Given the description of an element on the screen output the (x, y) to click on. 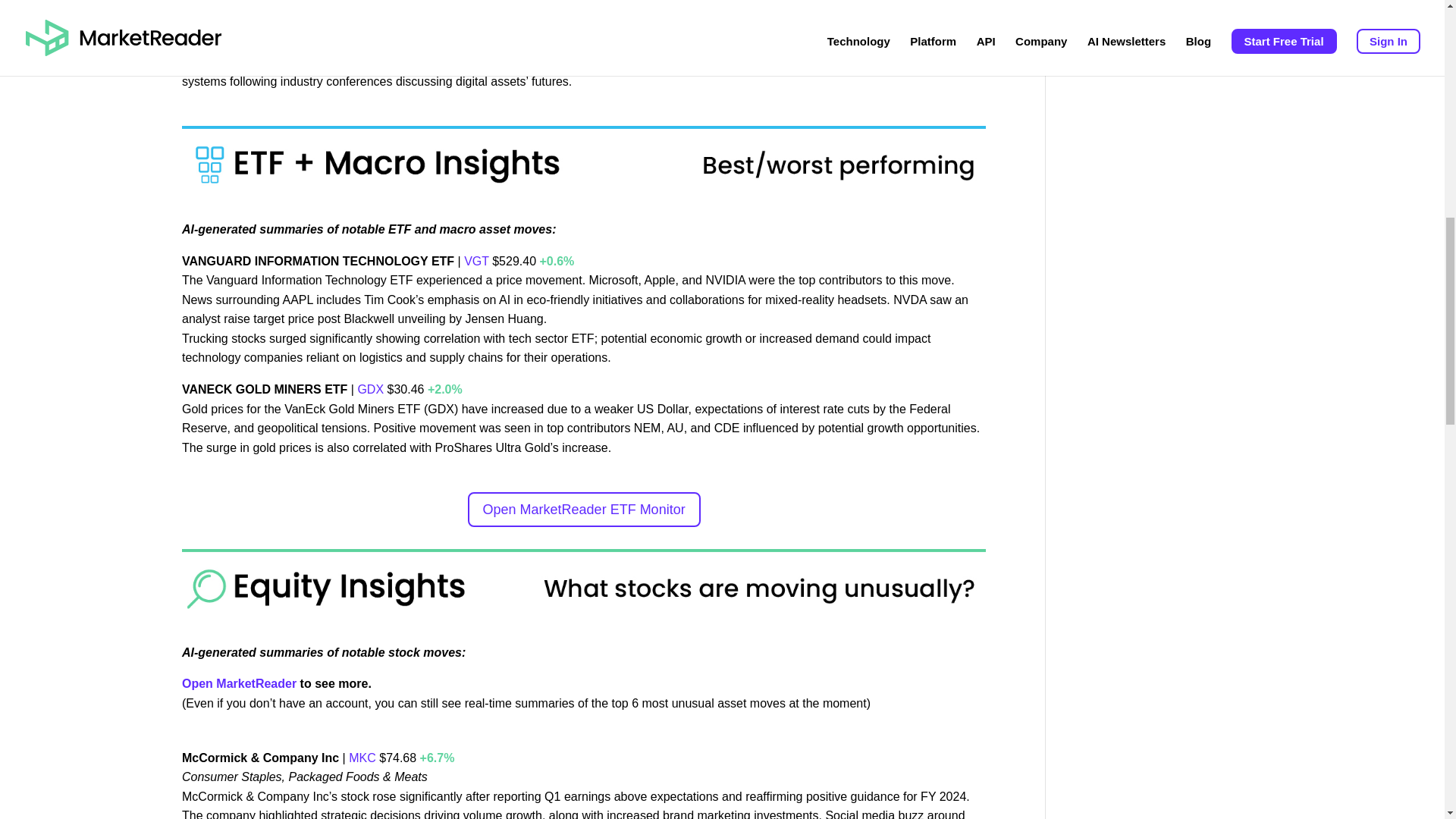
Open MarketReader  (240, 683)
VGT (476, 260)
GDX (370, 389)
MKC (362, 757)
Open MarketReader ETF Monitor (583, 509)
